Given the description of an element on the screen output the (x, y) to click on. 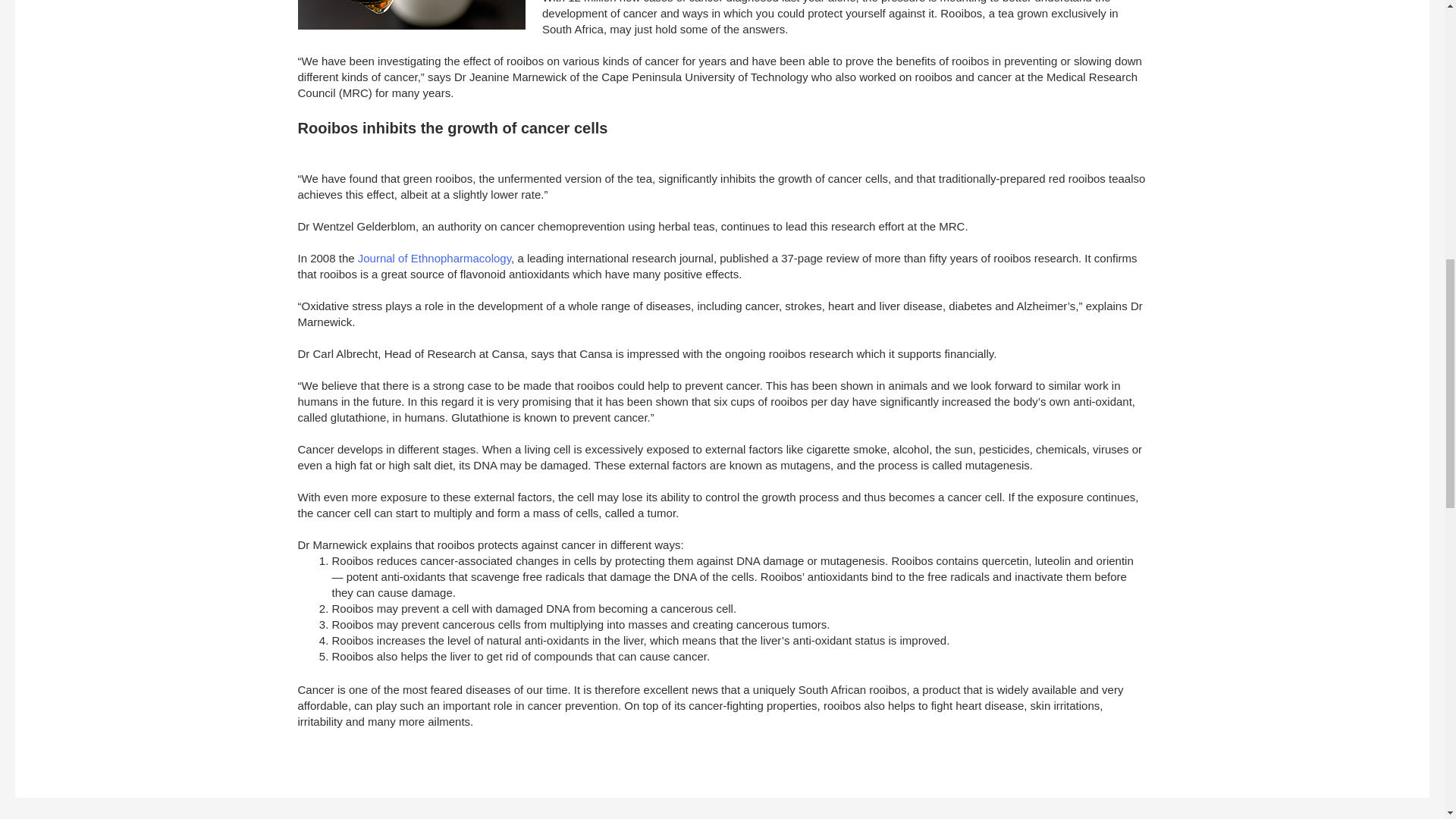
cup (410, 14)
